Given the description of an element on the screen output the (x, y) to click on. 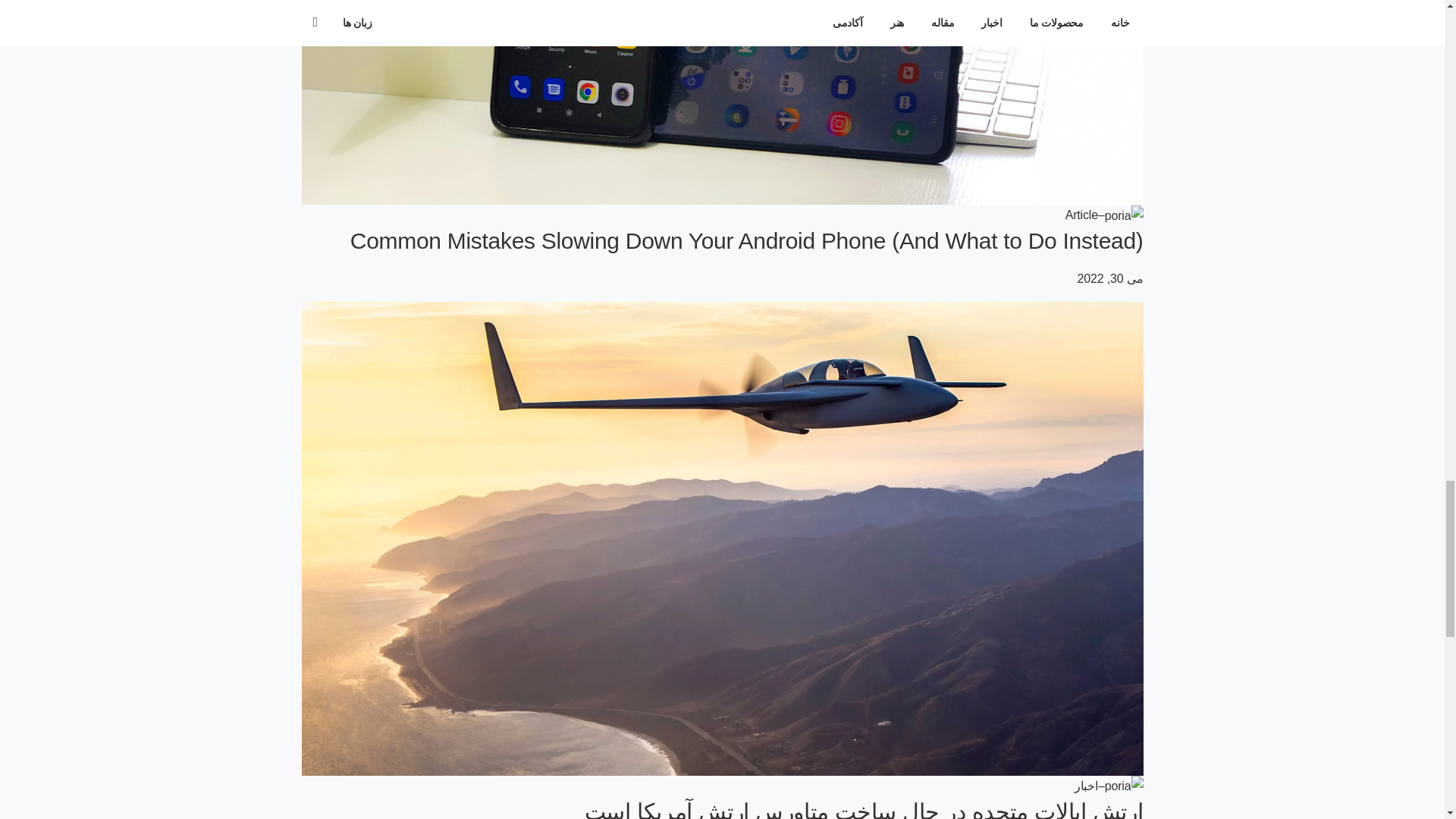
Article (1081, 214)
